Given the description of an element on the screen output the (x, y) to click on. 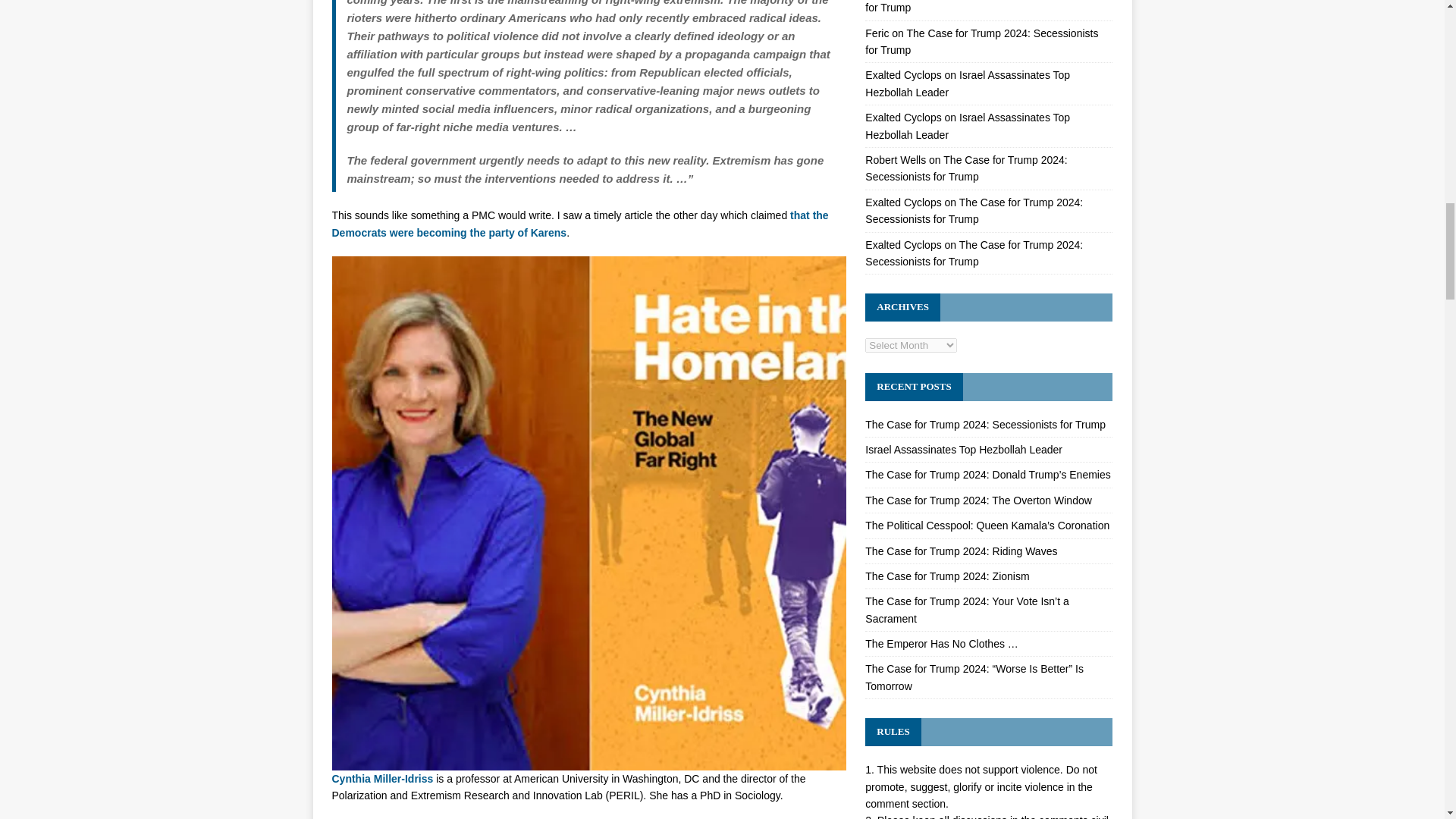
that the Democrats were becoming the party of Karens (579, 223)
Cynthia Miller-Idriss (382, 778)
